Given the description of an element on the screen output the (x, y) to click on. 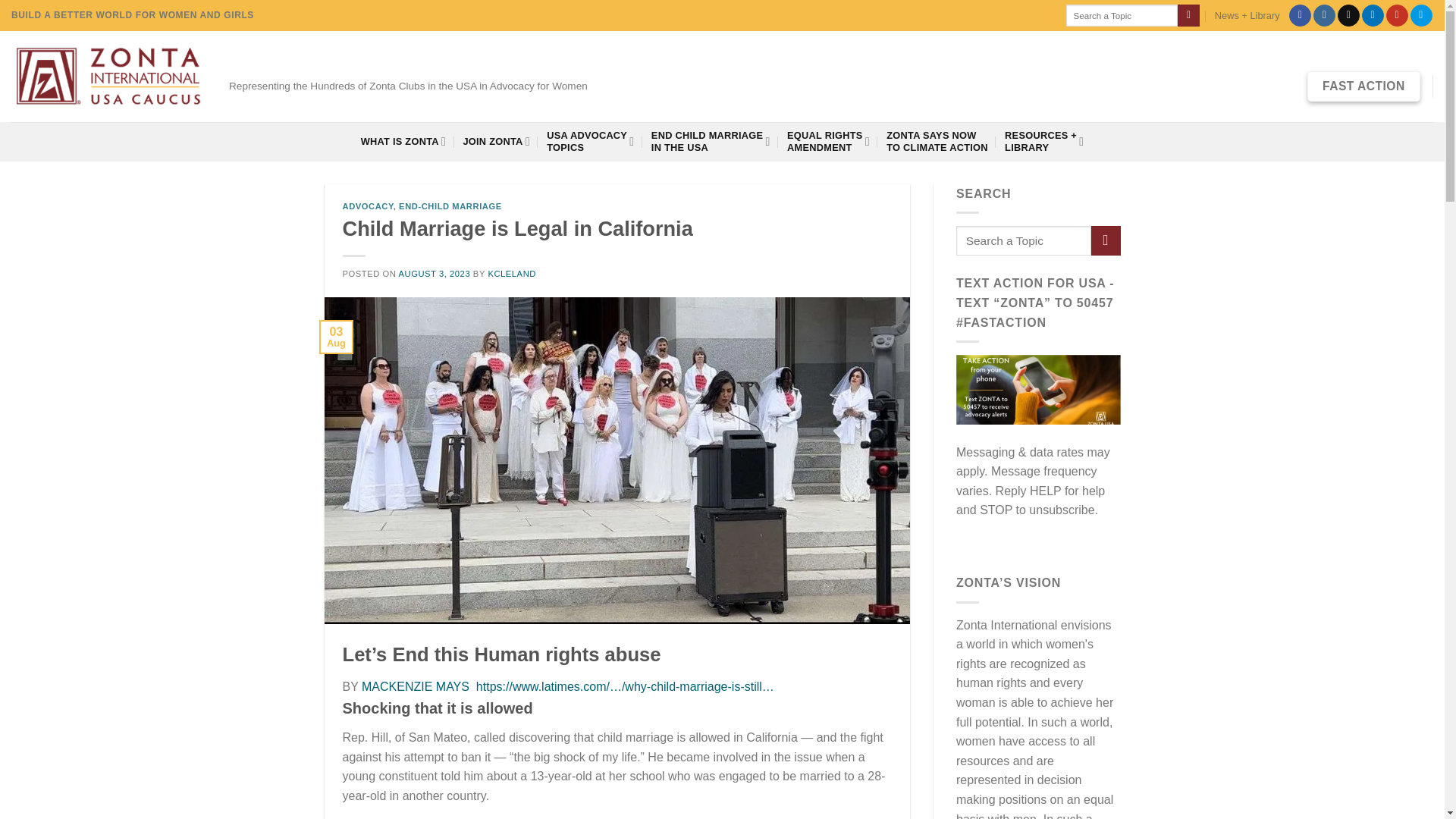
WHAT IS ZONTA (403, 141)
Send us an email (1348, 15)
Follow on YouTube (590, 141)
JOIN ZONTA (1396, 15)
Follow on LinkedIn (496, 141)
FAST ACTION (1372, 15)
Follow on Instagram (1363, 86)
Follow on Facebook (1324, 15)
Skip to content (1299, 15)
